Given the description of an element on the screen output the (x, y) to click on. 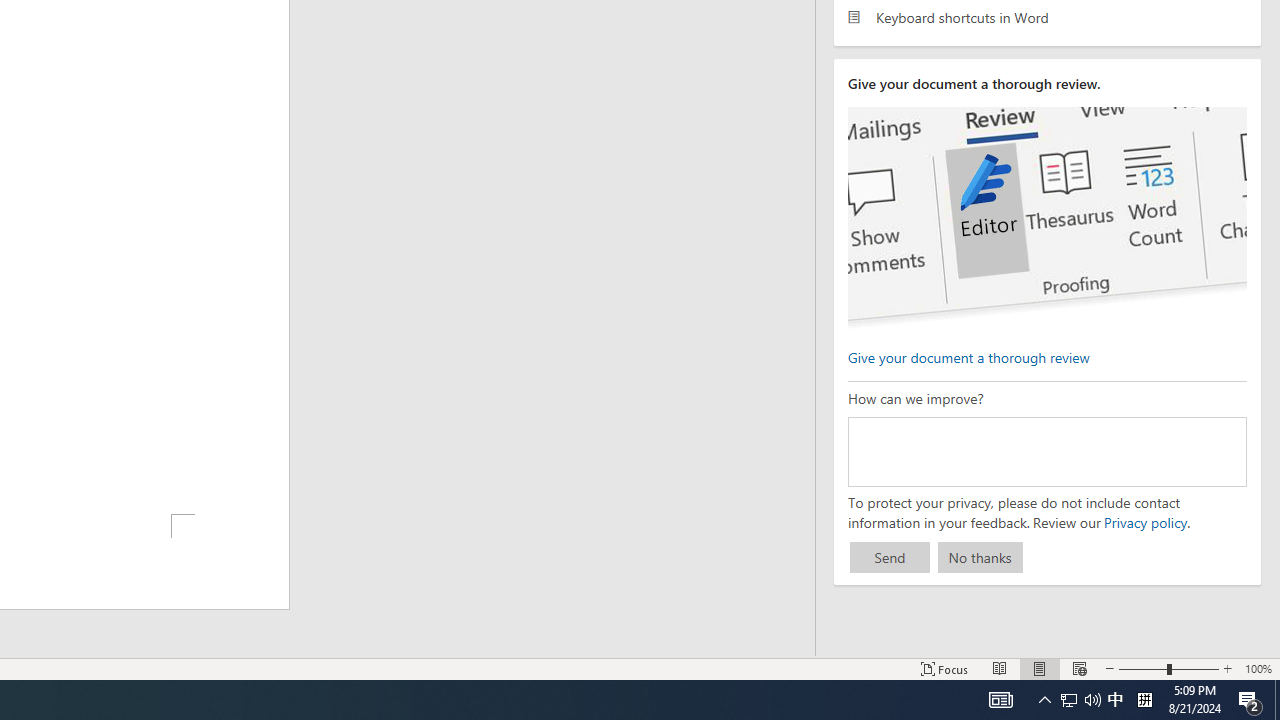
Zoom 100% (1258, 668)
editor ui screenshot (1046, 218)
How can we improve? (1046, 451)
Keyboard shortcuts in Word (1047, 16)
No thanks (980, 557)
Send (889, 557)
Zoom (1168, 668)
Privacy policy (1144, 522)
Give your document a thorough review (968, 356)
